Given the description of an element on the screen output the (x, y) to click on. 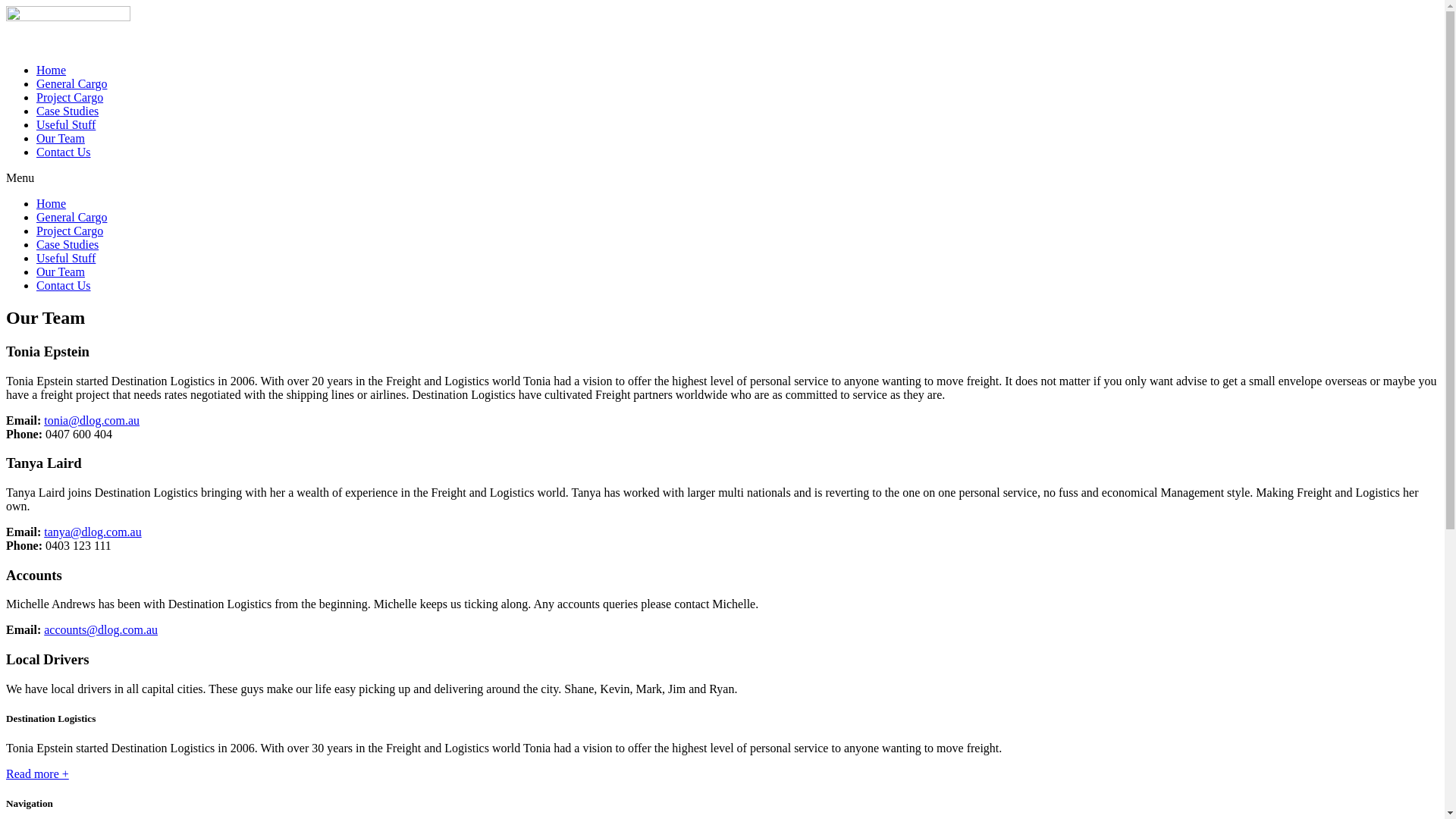
Contact Us Element type: text (63, 285)
Read more + Element type: text (37, 773)
Skip to content Element type: text (5, 5)
tanya@dlog.com.au Element type: text (92, 531)
tonia@dlog.com.au Element type: text (91, 420)
Case Studies Element type: text (67, 244)
Home Element type: text (50, 203)
Project Cargo Element type: text (69, 97)
Project Cargo Element type: text (69, 230)
Home Element type: text (50, 69)
Our Team Element type: text (60, 137)
Useful Stuff Element type: text (65, 124)
accounts@dlog.com.au Element type: text (100, 629)
Case Studies Element type: text (67, 110)
General Cargo Element type: text (71, 216)
General Cargo Element type: text (71, 83)
Useful Stuff Element type: text (65, 257)
Contact Us Element type: text (63, 151)
Our Team Element type: text (60, 271)
